Given the description of an element on the screen output the (x, y) to click on. 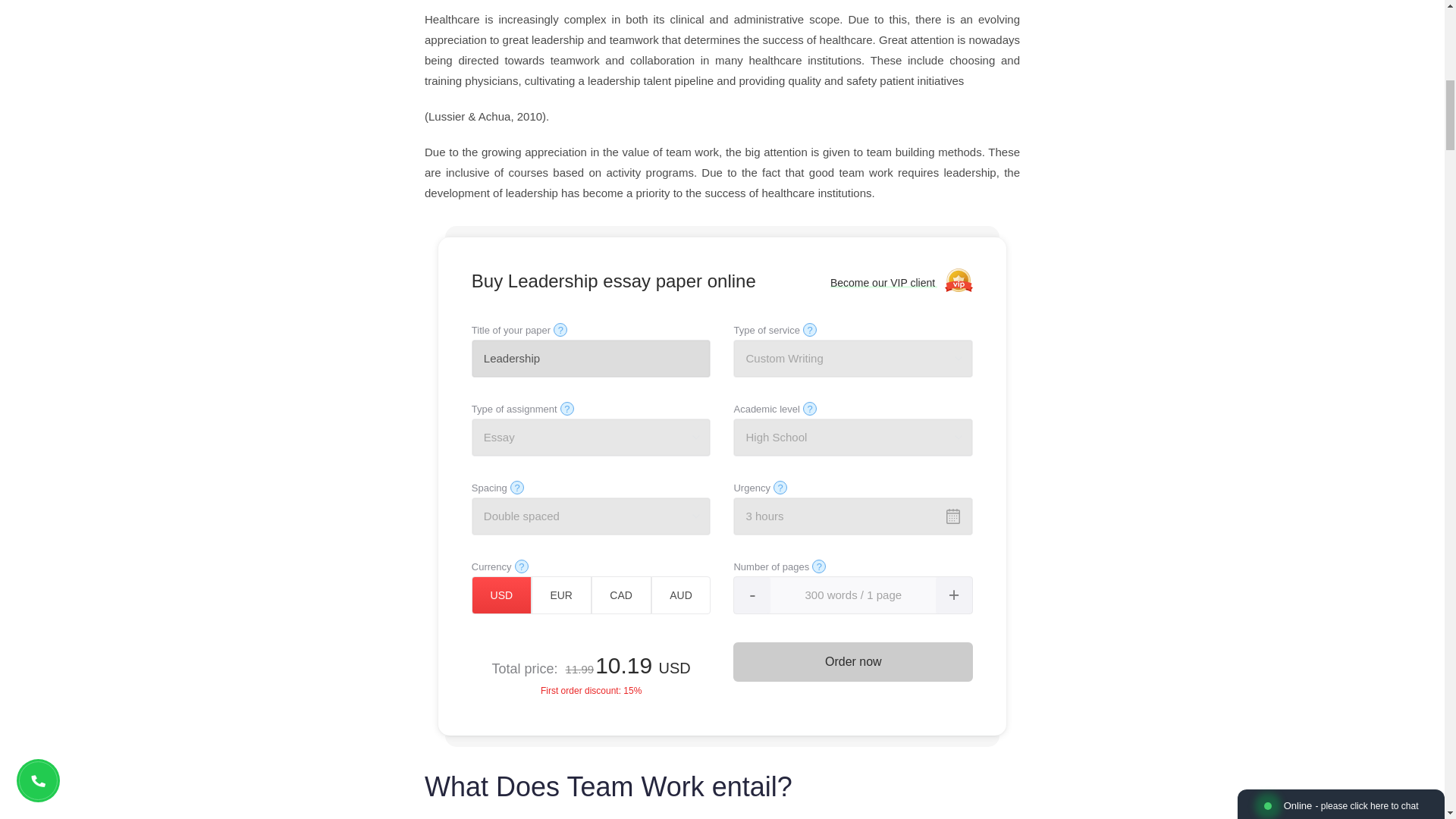
CAD (620, 595)
Order now (852, 661)
EUR (561, 595)
USD (501, 595)
Leadership (591, 358)
- (751, 595)
AUD (680, 595)
